Given the description of an element on the screen output the (x, y) to click on. 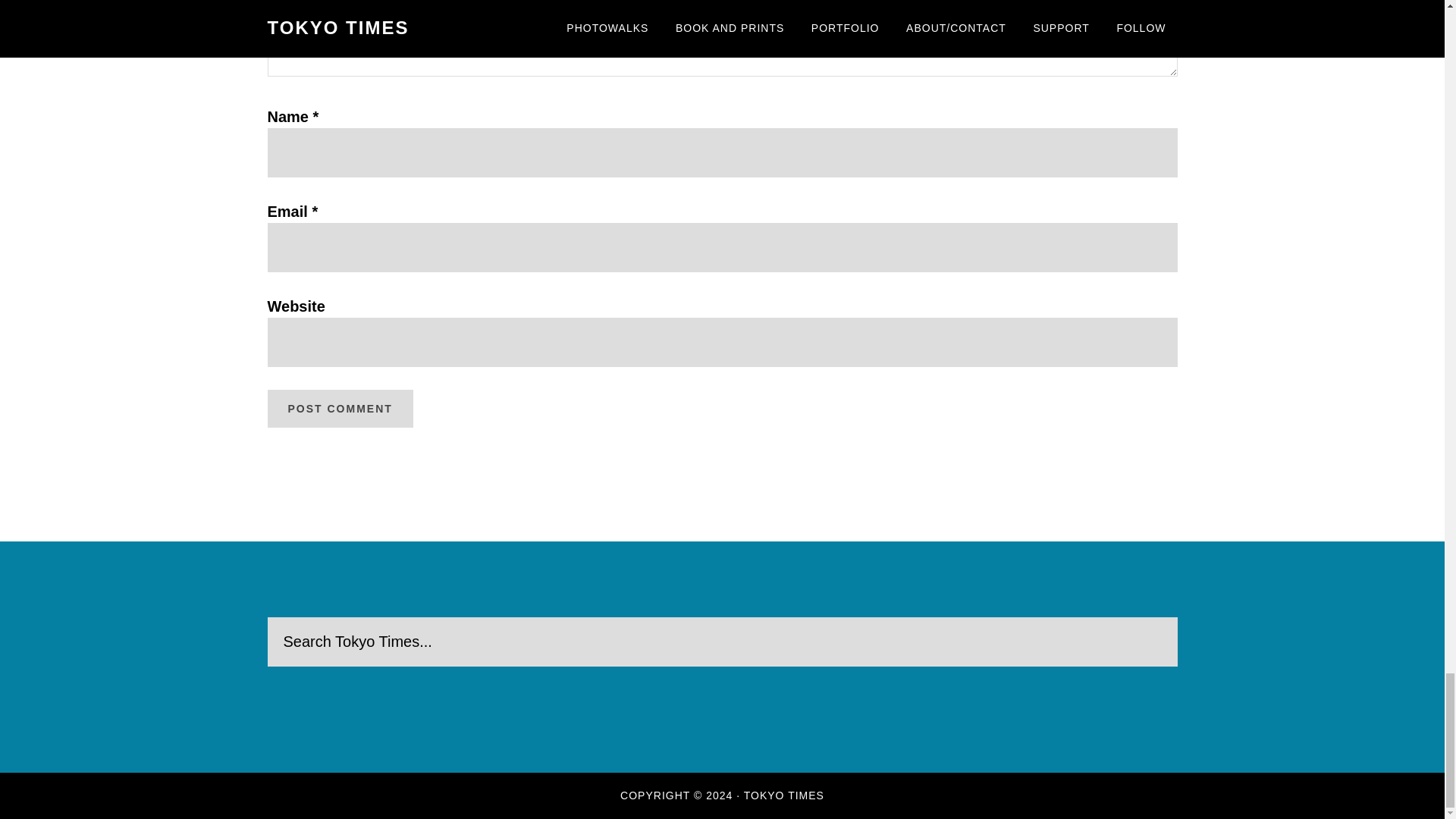
Post Comment (339, 408)
